Given the description of an element on the screen output the (x, y) to click on. 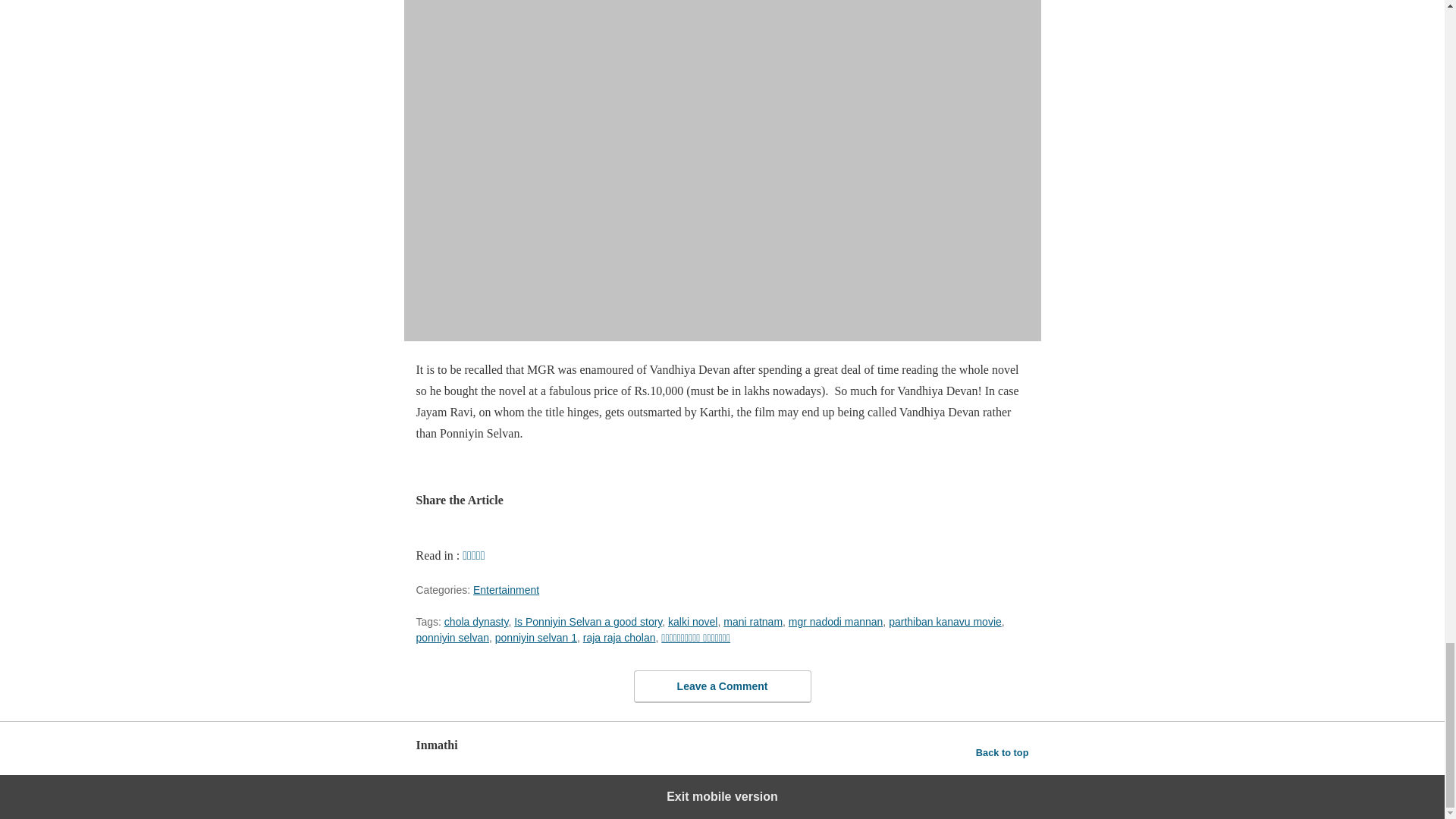
Is Ponniyin Selvan a good story (587, 621)
raja raja cholan (619, 637)
ponniyin selvan (451, 637)
Back to top (1002, 752)
mani ratnam (753, 621)
chola dynasty (476, 621)
kalki novel (692, 621)
Facebook (531, 533)
Twitter (565, 533)
Leave a Comment (721, 686)
